Given the description of an element on the screen output the (x, y) to click on. 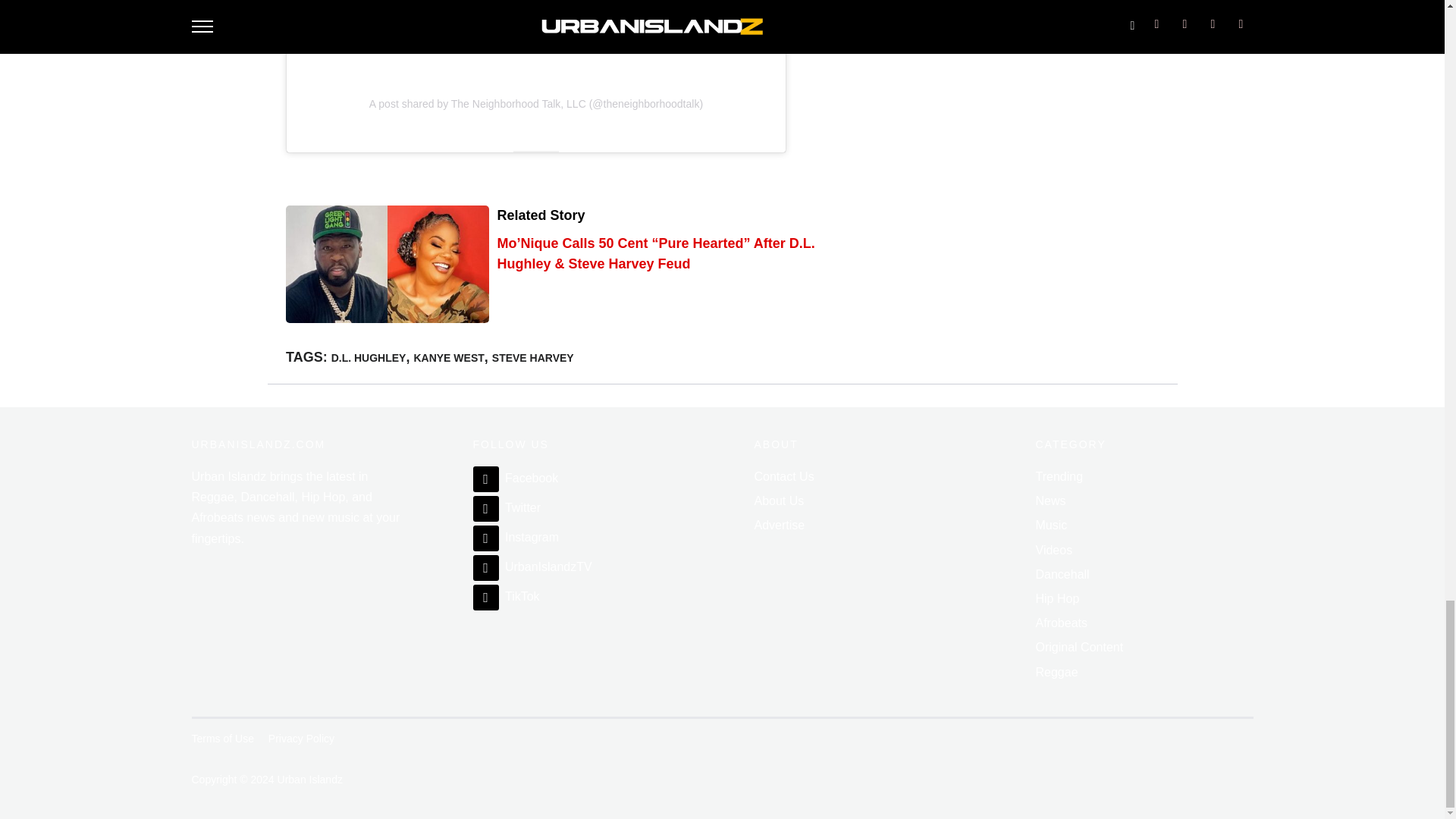
Instagram (516, 536)
UrbanIslandzTV (532, 566)
Twitter (507, 507)
Facebook (516, 477)
View this post on Instagram (535, 24)
